Given the description of an element on the screen output the (x, y) to click on. 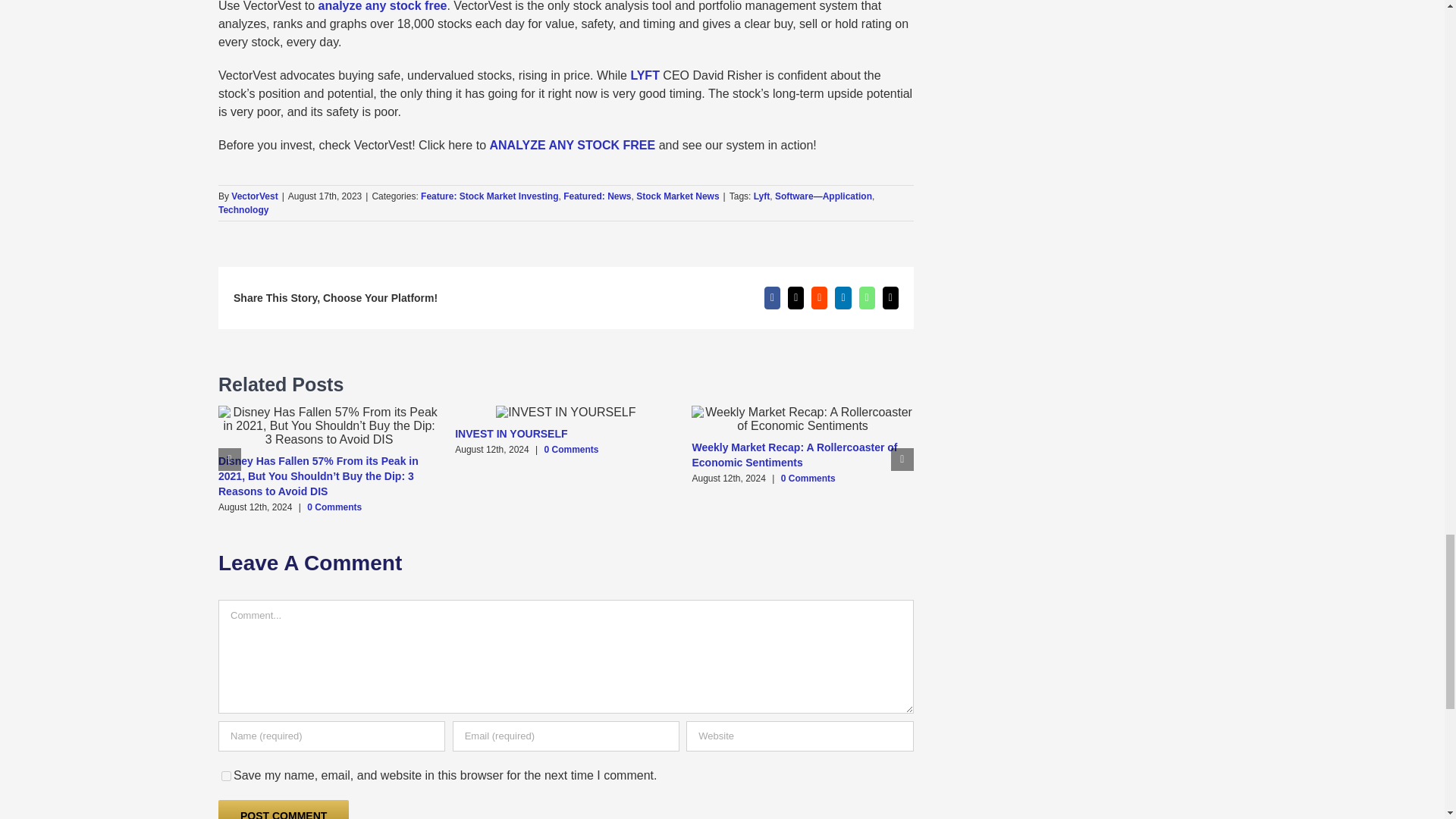
Weekly Market Recap: A Rollercoaster of Economic Sentiments (793, 454)
Posts by VectorVest (254, 195)
yes (226, 776)
INVEST IN YOURSELF (510, 433)
Post Comment (283, 809)
